Given the description of an element on the screen output the (x, y) to click on. 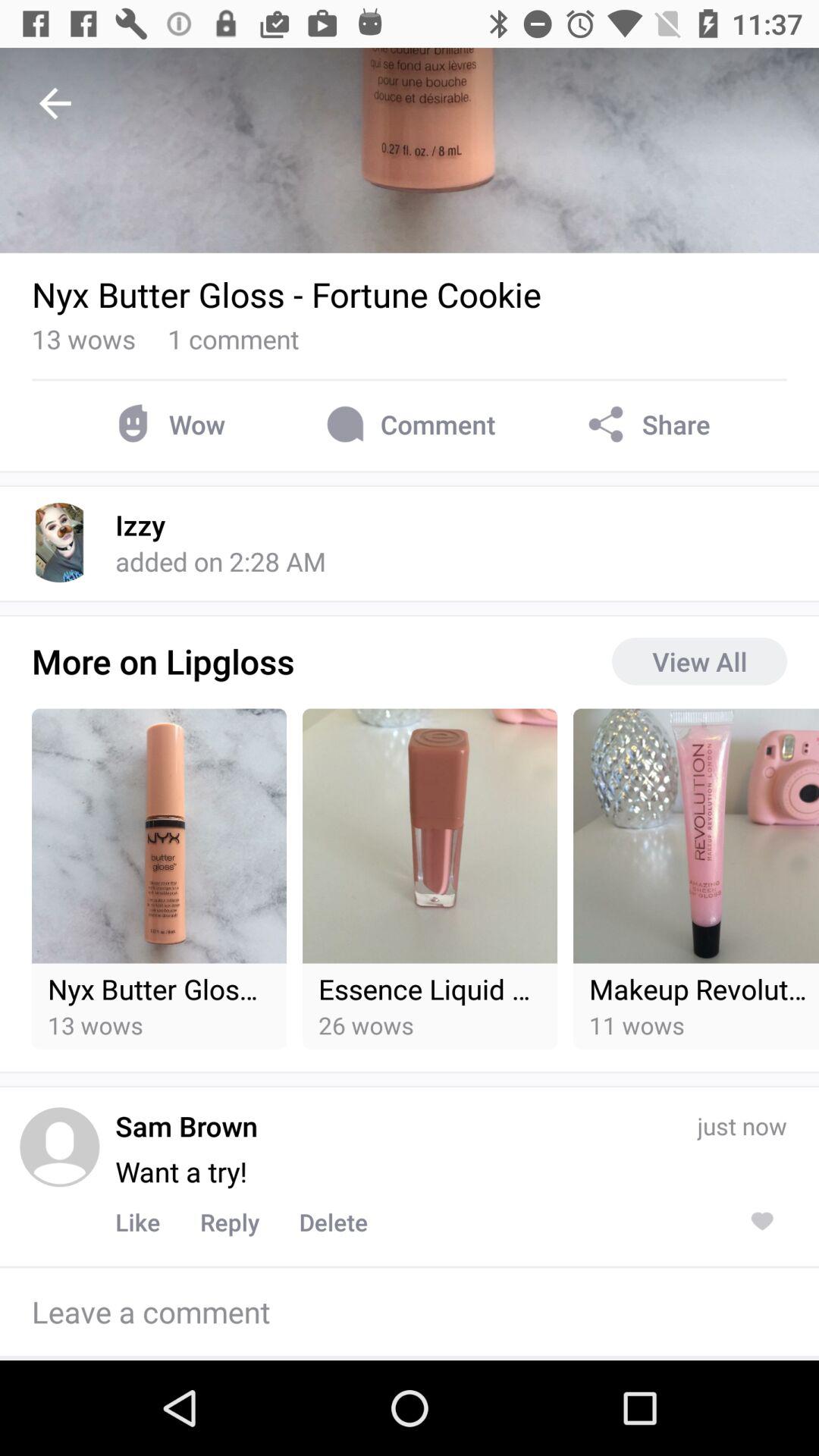
leave a comment (409, 1311)
